Given the description of an element on the screen output the (x, y) to click on. 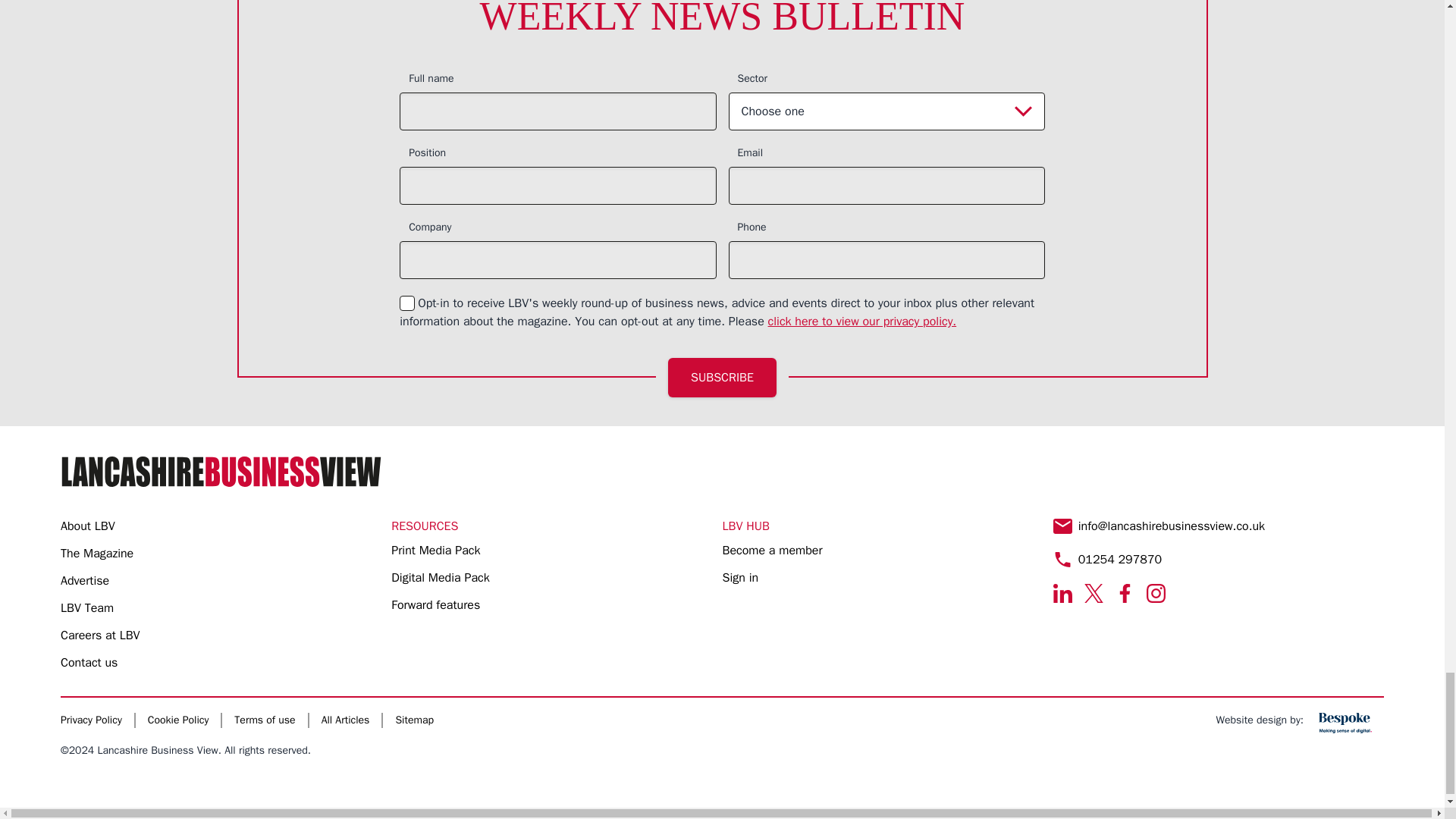
Privacy Policy (862, 321)
